Given the description of an element on the screen output the (x, y) to click on. 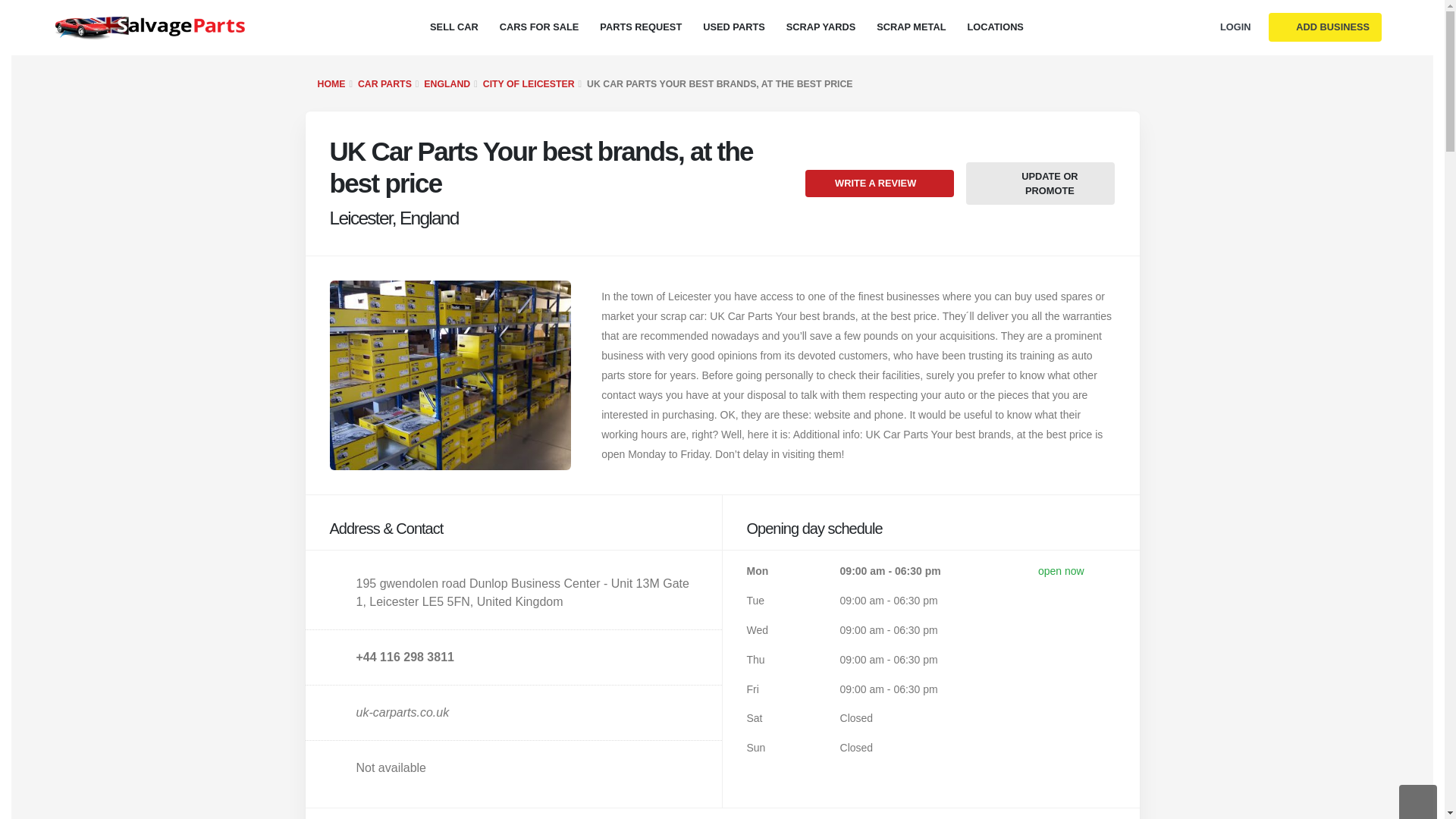
SCRAP METAL (911, 27)
LOCATIONS (994, 27)
ADD BUSINESS (1324, 27)
CITY OF LEICESTER (529, 83)
ENGLAND (446, 83)
USED PARTS (734, 27)
CAR PARTS (385, 83)
SELL CAR (453, 27)
HOME (331, 83)
SCRAP YARDS (820, 27)
